Given the description of an element on the screen output the (x, y) to click on. 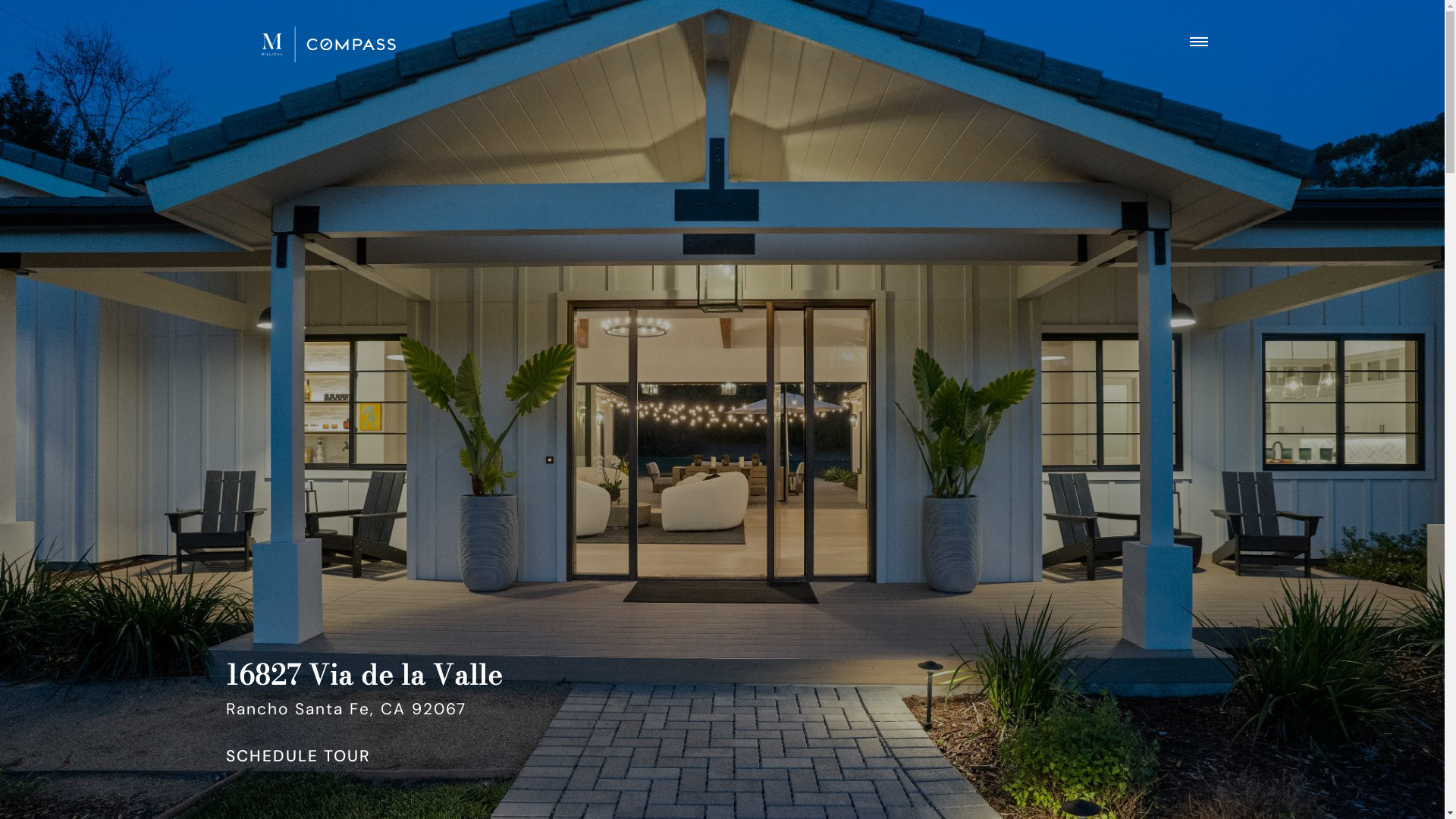
SCHEDULE TOUR Element type: text (297, 756)
